Given the description of an element on the screen output the (x, y) to click on. 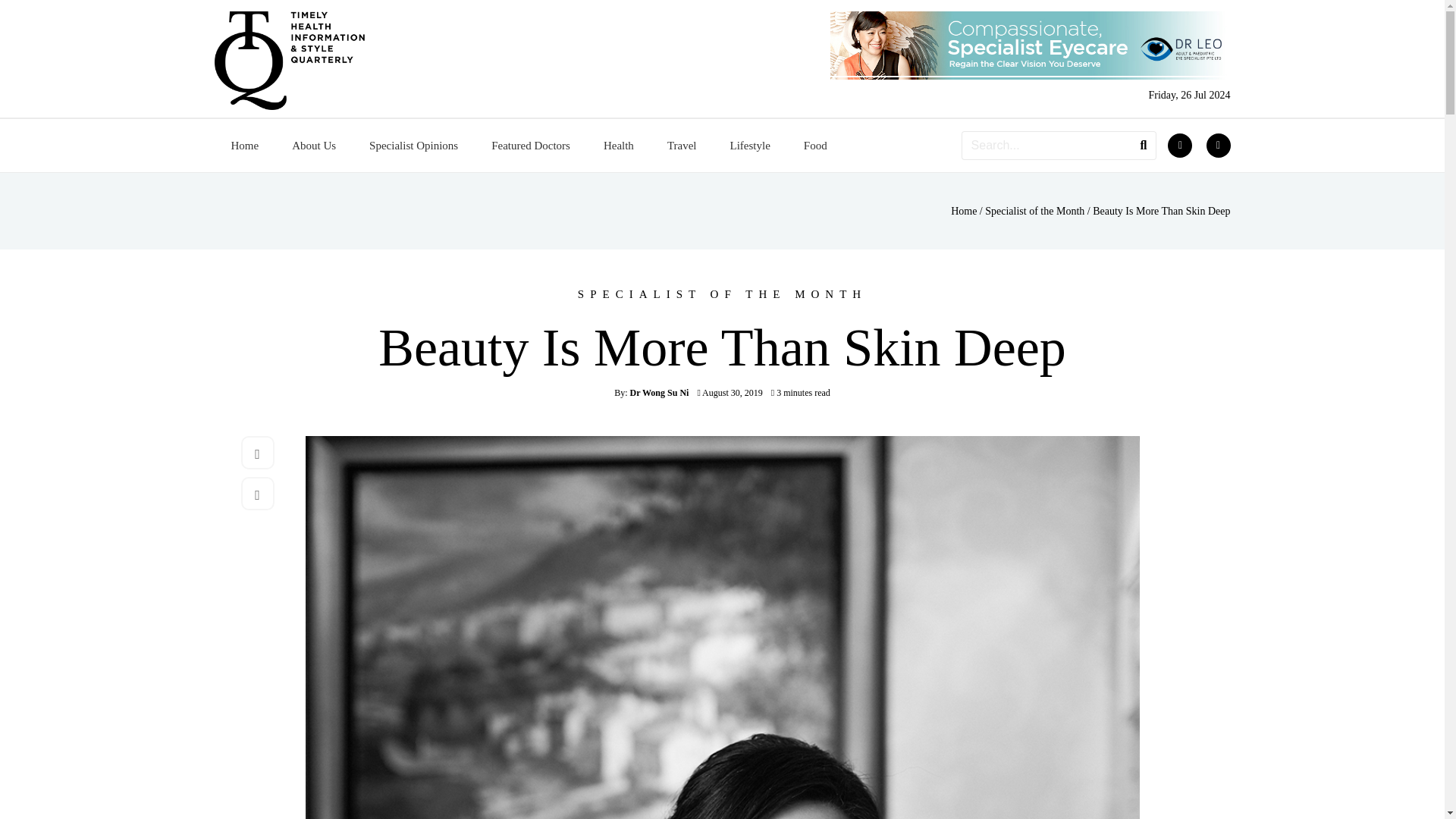
Featured Doctors (530, 145)
About Us (313, 145)
Specialist of the Month (1034, 211)
Travel (681, 145)
Health (618, 145)
Lifestyle (749, 145)
Health (618, 145)
Food (815, 145)
Food (815, 145)
Home (963, 211)
Featured Doctors (530, 145)
About Us (313, 145)
Specialist Opinions (413, 145)
Specialist Opinions (413, 145)
Lifestyle (749, 145)
